Given the description of an element on the screen output the (x, y) to click on. 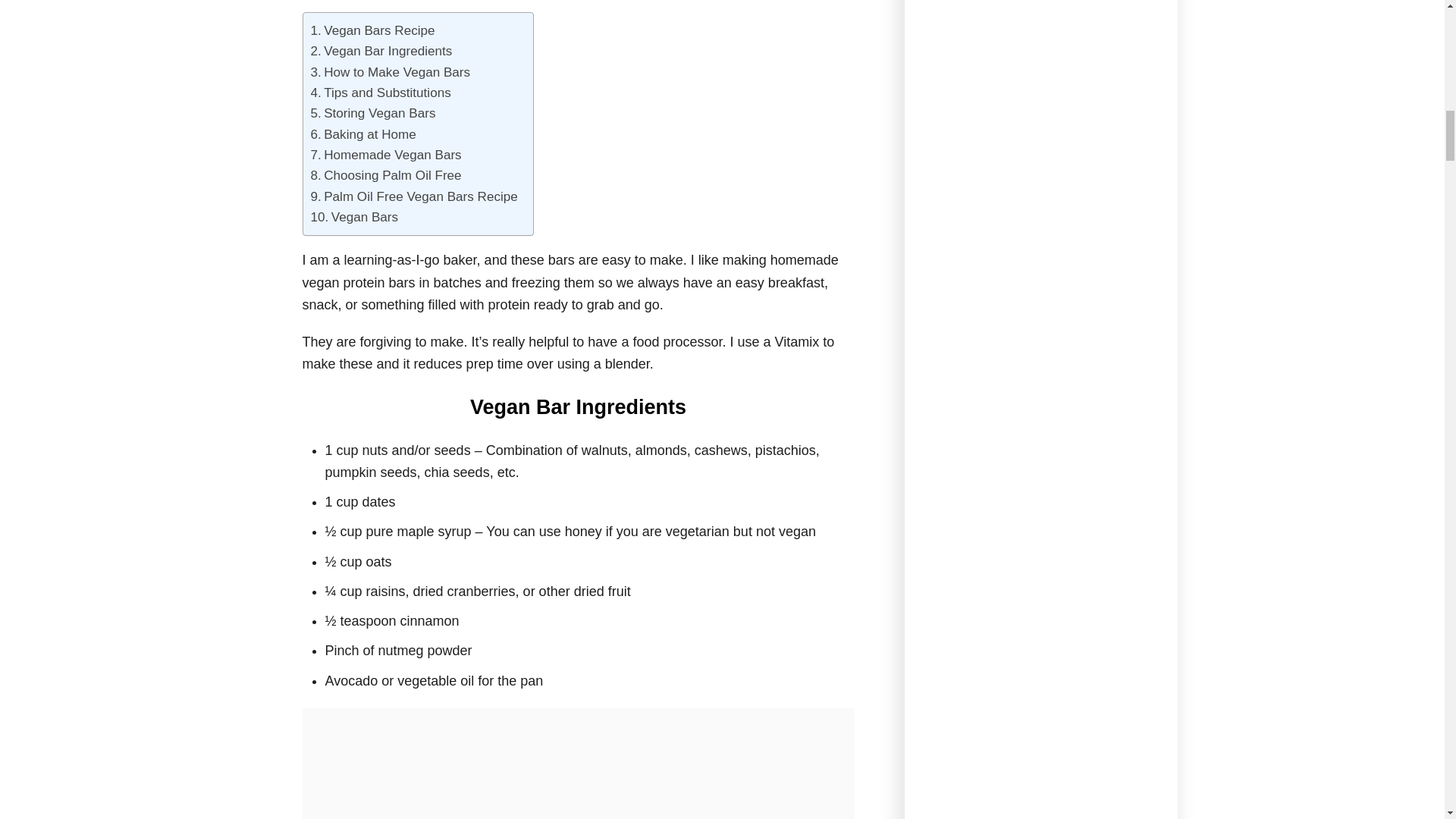
Vegan Bars (354, 217)
Tips and Substitutions (381, 92)
Storing Vegan Bars (373, 113)
Vegan Bars Recipe (373, 30)
Vegan Bars Recipe (373, 30)
Baking at Home (363, 134)
Choosing Palm Oil Free  (388, 175)
Palm Oil Free Vegan Bars Recipe (414, 196)
Palm Oil Free Vegan Bars Recipe (414, 196)
Vegan Bars (354, 217)
Tips and Substitutions (381, 92)
Vegan Bar Ingredients (381, 50)
How to Make Vegan Bars (390, 72)
Storing Vegan Bars (373, 113)
Homemade Vegan Bars (386, 154)
